Given the description of an element on the screen output the (x, y) to click on. 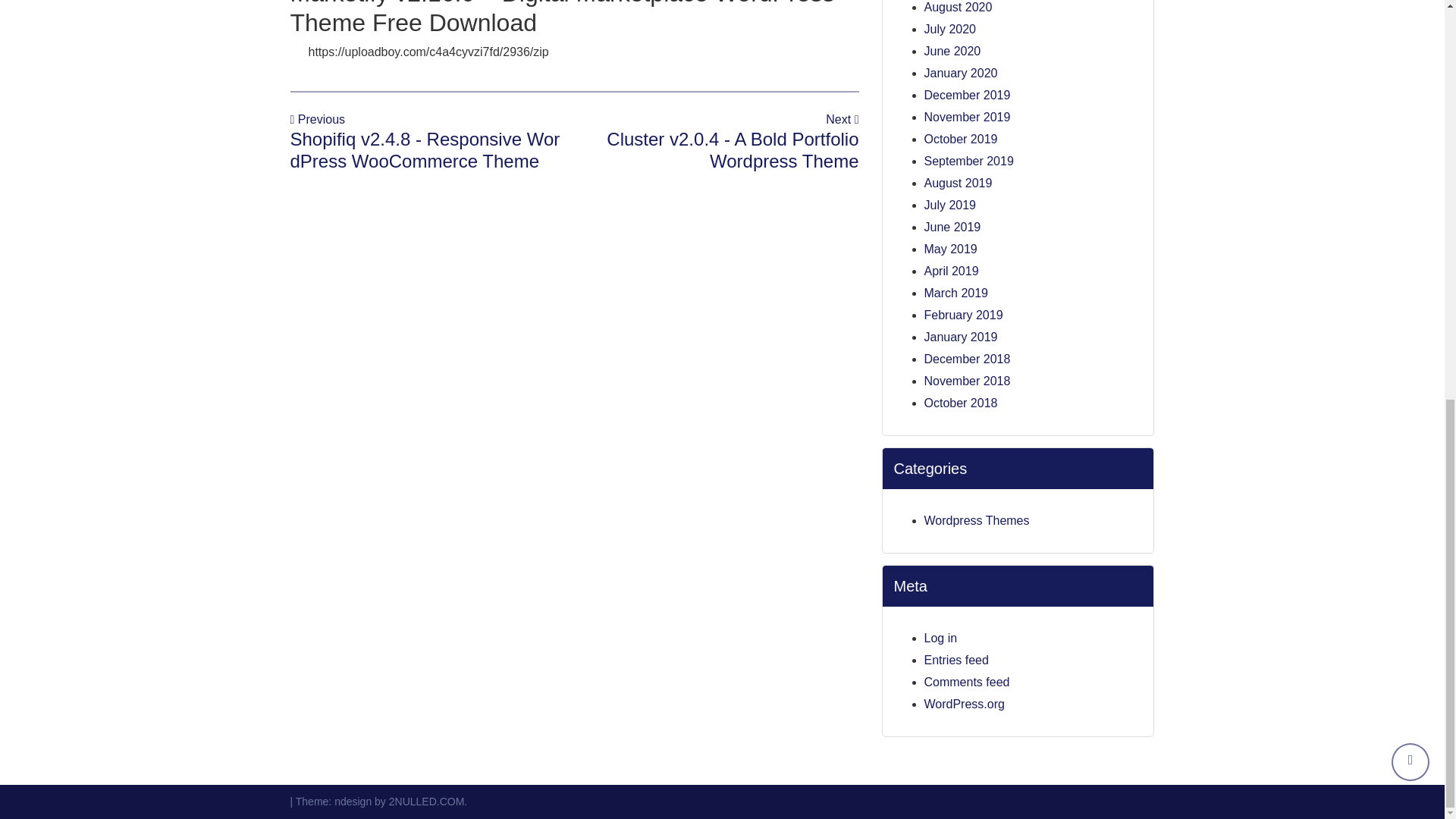
October 2019 (960, 138)
March 2019 (955, 292)
December 2018 (966, 358)
July 2020 (949, 29)
November 2019 (966, 116)
September 2019 (968, 160)
Previous (317, 119)
August 2020 (957, 6)
January 2020 (960, 72)
May 2019 (949, 248)
December 2019 (966, 94)
July 2019 (949, 205)
Next (842, 119)
January 2019 (960, 336)
August 2019 (957, 182)
